Given the description of an element on the screen output the (x, y) to click on. 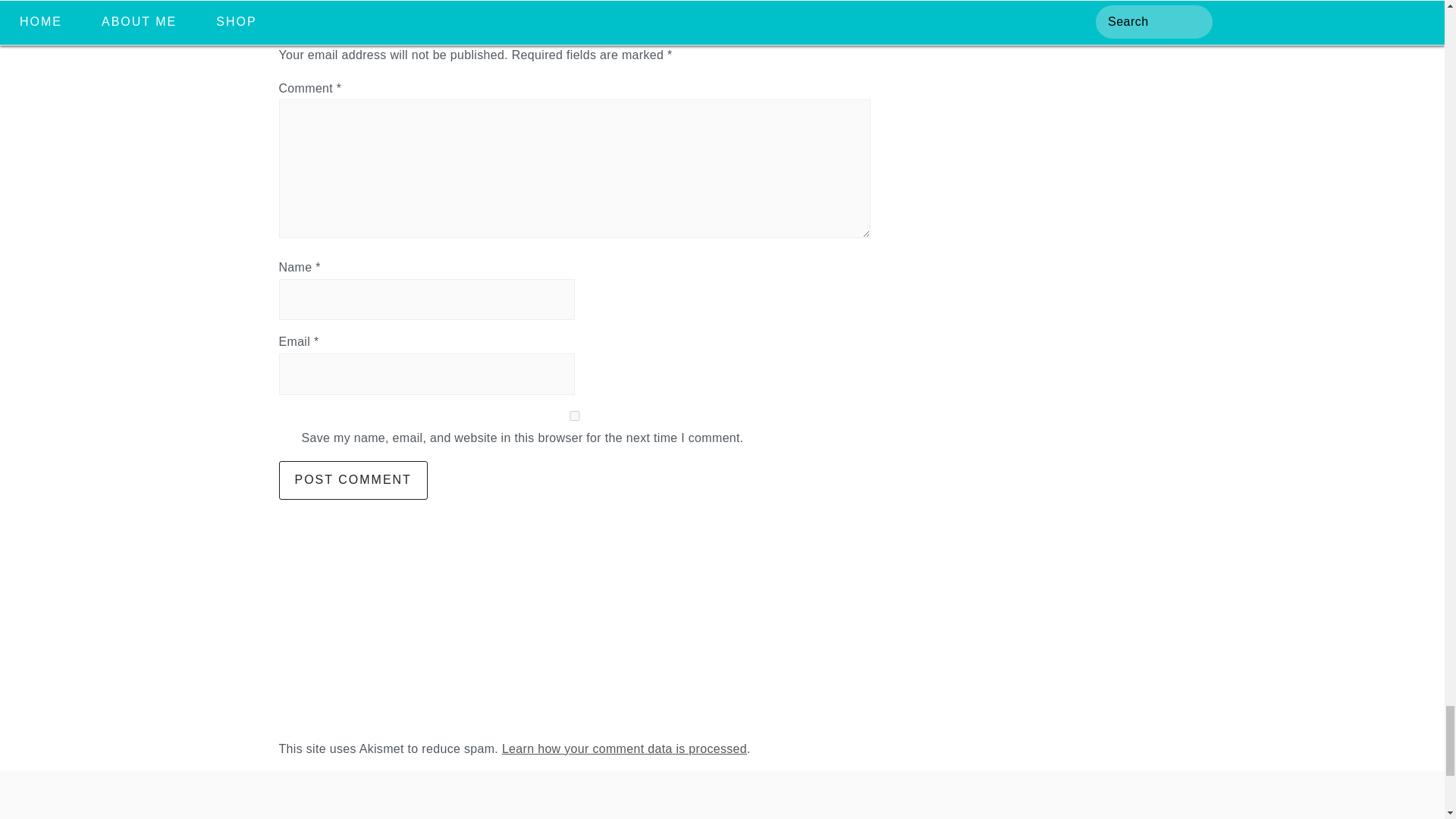
Post Comment (353, 479)
yes (574, 415)
